Given the description of an element on the screen output the (x, y) to click on. 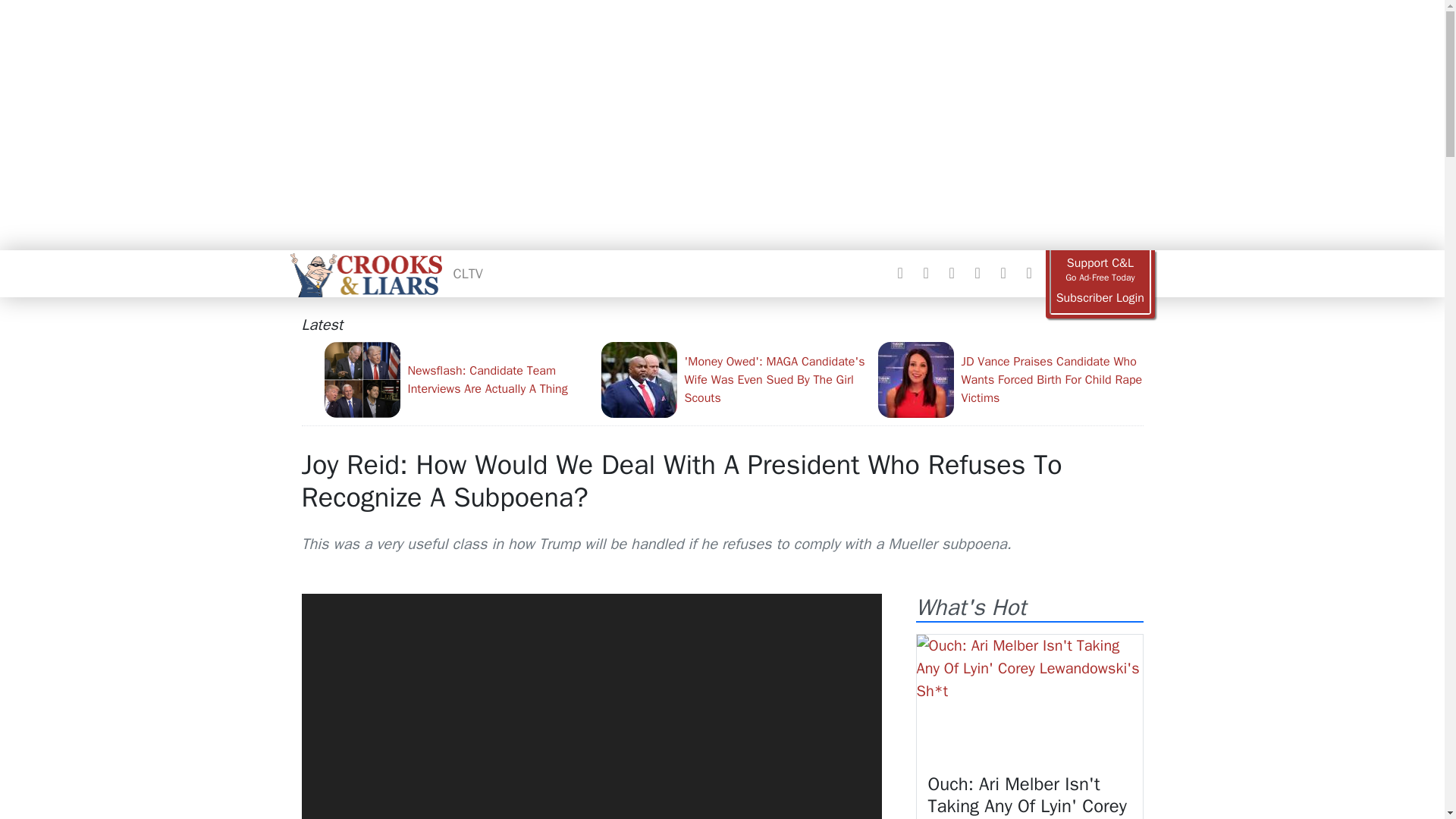
Go ad free today! (1099, 270)
Login to your ad free account (1099, 298)
Newsflash: Candidate Team Interviews Are Actually A Thing (456, 379)
CLTV (467, 273)
Subscriber Login (1099, 298)
